Given the description of an element on the screen output the (x, y) to click on. 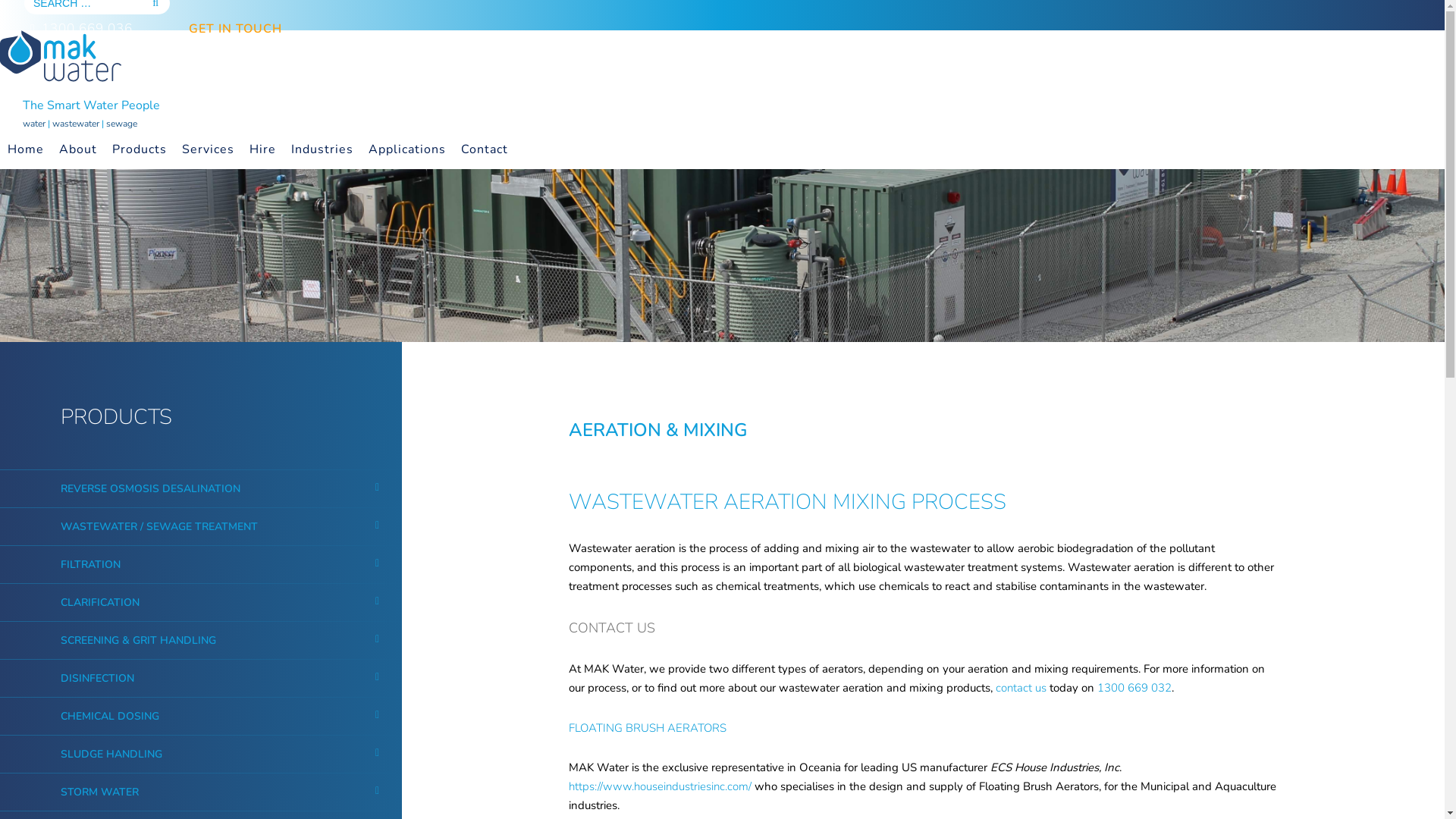
SCREENING & GRIT HANDLING Element type: text (138, 640)
Applications Element type: text (406, 149)
CHEMICAL DOSING Element type: text (109, 716)
CLARIFICATION Element type: text (99, 602)
Services Element type: text (208, 149)
FLOATING BRUSH AERATORS Element type: text (647, 727)
WASTEWATER / SEWAGE TREATMENT Element type: text (158, 526)
About Element type: text (78, 149)
REVERSE OSMOSIS DESALINATION Element type: text (150, 488)
Industries Element type: text (322, 149)
DISINFECTION Element type: text (97, 678)
Contact Element type: text (484, 149)
GET IN TOUCH Element type: text (233, 28)
contact us Element type: text (1020, 687)
Submit Element type: text (868, 517)
Home Element type: text (25, 149)
SLUDGE HANDLING Element type: text (111, 753)
FILTRATION Element type: text (90, 564)
https://www.houseindustriesinc.com/ Element type: text (659, 785)
Hire Element type: text (262, 149)
Products Element type: text (139, 149)
1300 669 032 Element type: text (1134, 687)
STORM WATER Element type: text (99, 791)
1300 669 036 Element type: text (75, 28)
